Given the description of an element on the screen output the (x, y) to click on. 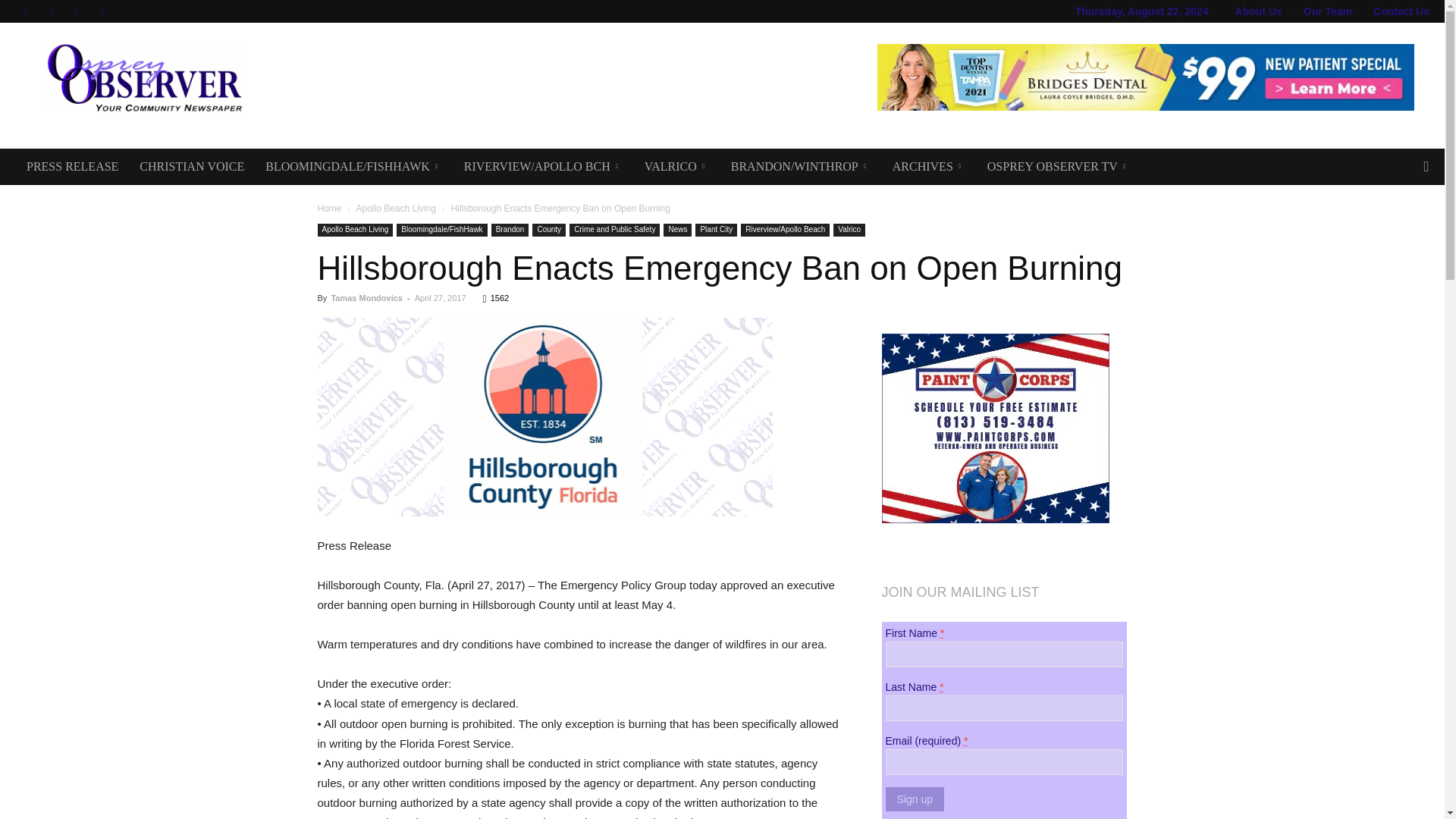
Sign up (914, 799)
Our Team (1330, 10)
About Us (1261, 10)
Youtube (101, 11)
View all posts in Apollo Beach Living (395, 208)
Facebook (25, 11)
a.001 97 (544, 416)
Twitter (76, 11)
Instagram (51, 11)
